Given the description of an element on the screen output the (x, y) to click on. 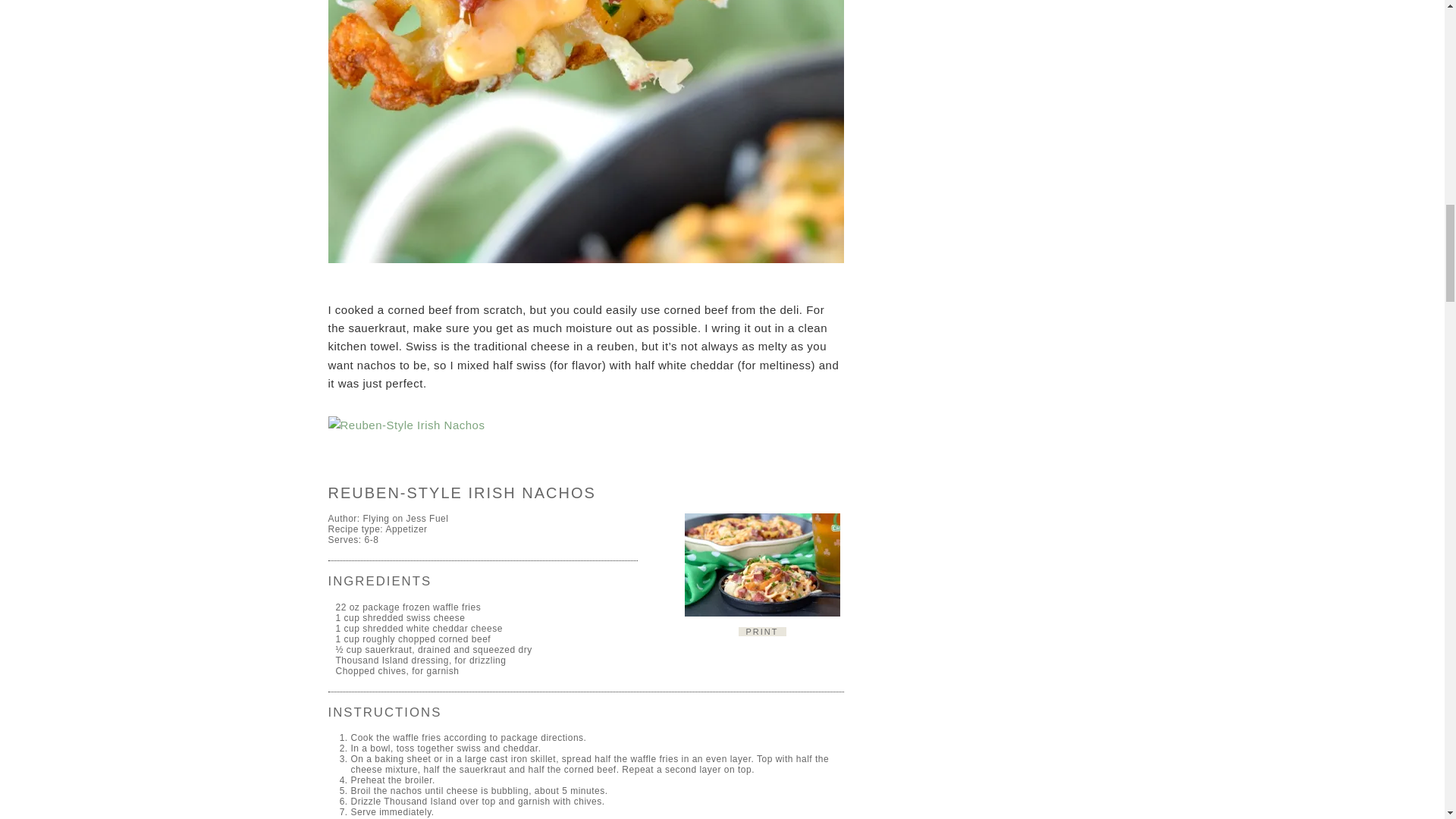
PRINT (762, 631)
